Given the description of an element on the screen output the (x, y) to click on. 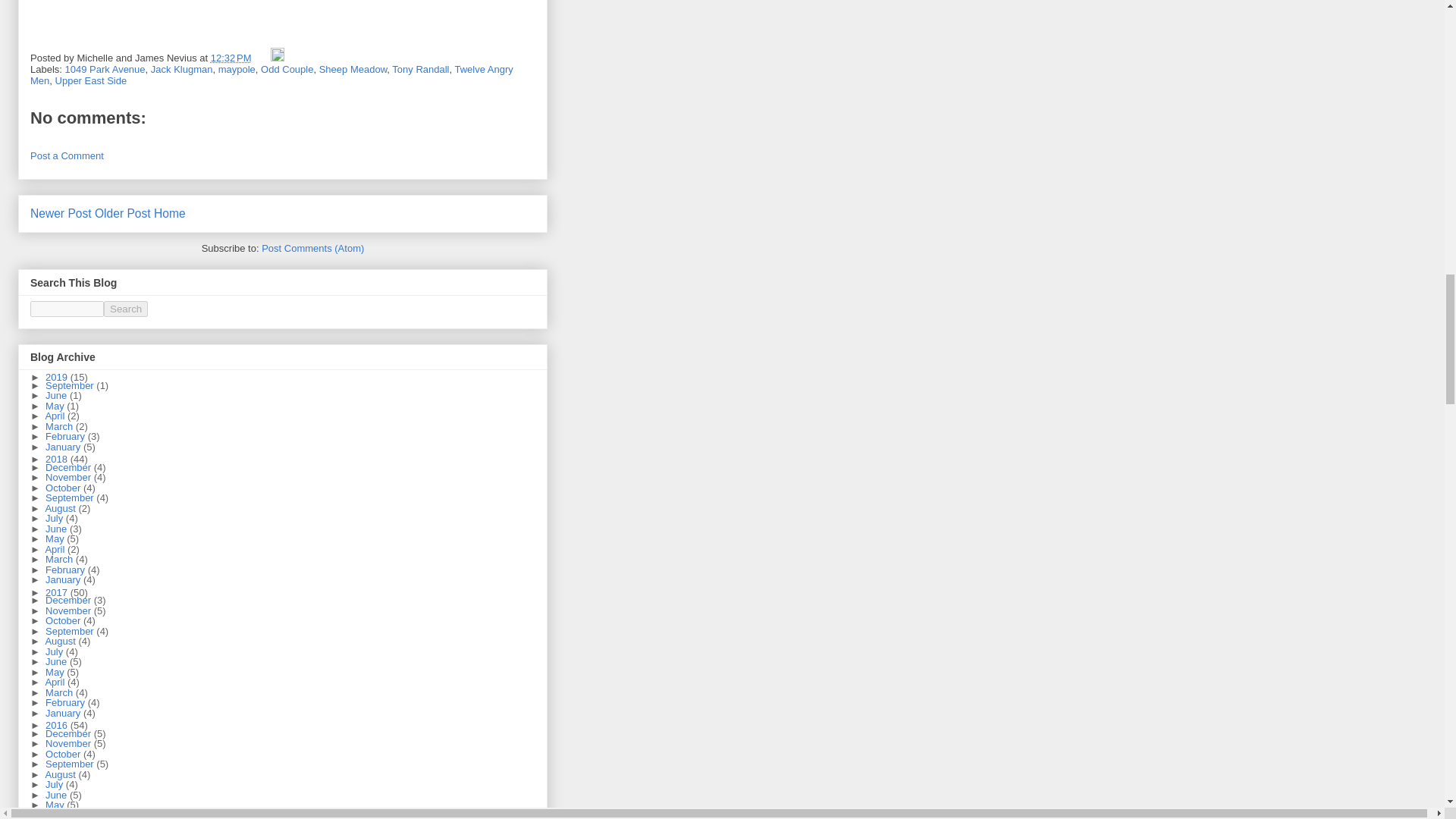
Odd Couple (286, 69)
Jack Klugman (181, 69)
2019 (57, 377)
Newer Post (60, 213)
Older Post (122, 213)
Sheep Meadow (352, 69)
search (125, 308)
June (57, 395)
maypole (237, 69)
permanent link (231, 57)
Newer Post (60, 213)
Edit Post (276, 57)
Search (125, 308)
Upper East Side (91, 80)
